Given the description of an element on the screen output the (x, y) to click on. 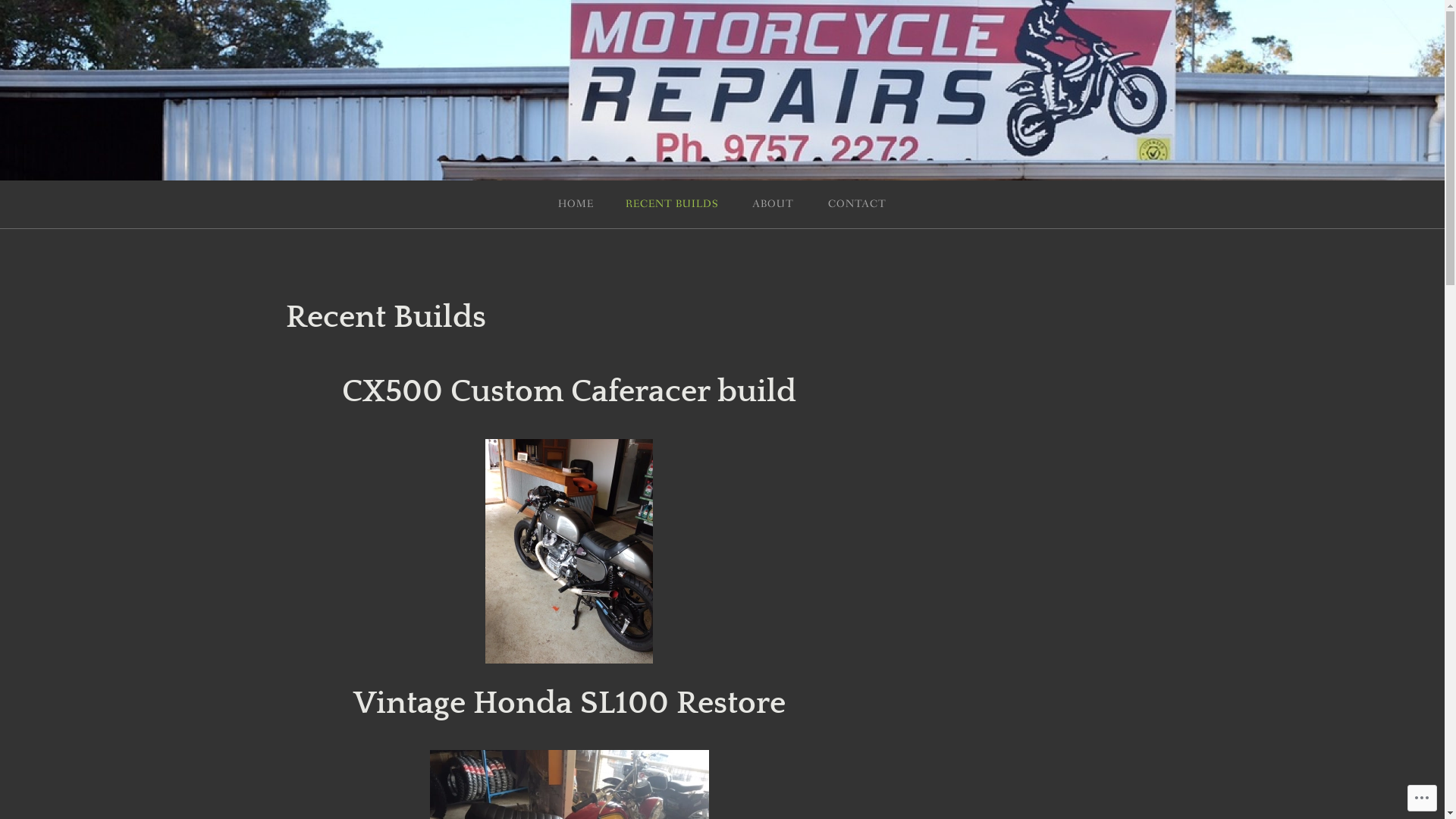
Margaret River Motorcycles Repairs Element type: text (355, 79)
CONTACT Element type: text (857, 204)
RECENT BUILDS Element type: text (671, 204)
ABOUT Element type: text (772, 204)
HOME Element type: text (575, 204)
